Given the description of an element on the screen output the (x, y) to click on. 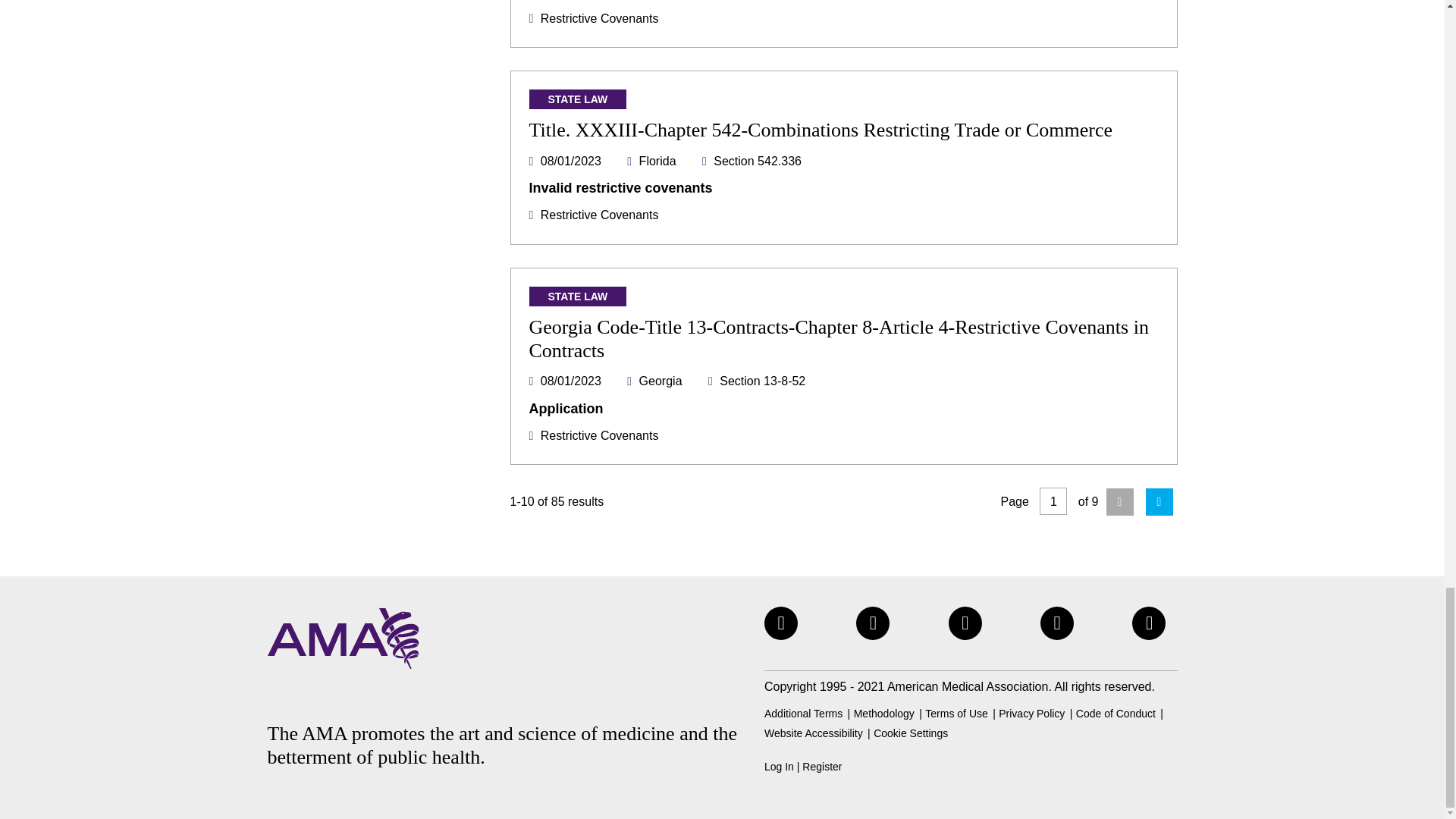
Additional Terms (803, 713)
Code of Conduct (1115, 713)
Register (821, 766)
Cookie Settings (910, 733)
Methodology (883, 713)
Website Accessibility (813, 733)
Terms of Use (955, 713)
Log In (778, 766)
